Given the description of an element on the screen output the (x, y) to click on. 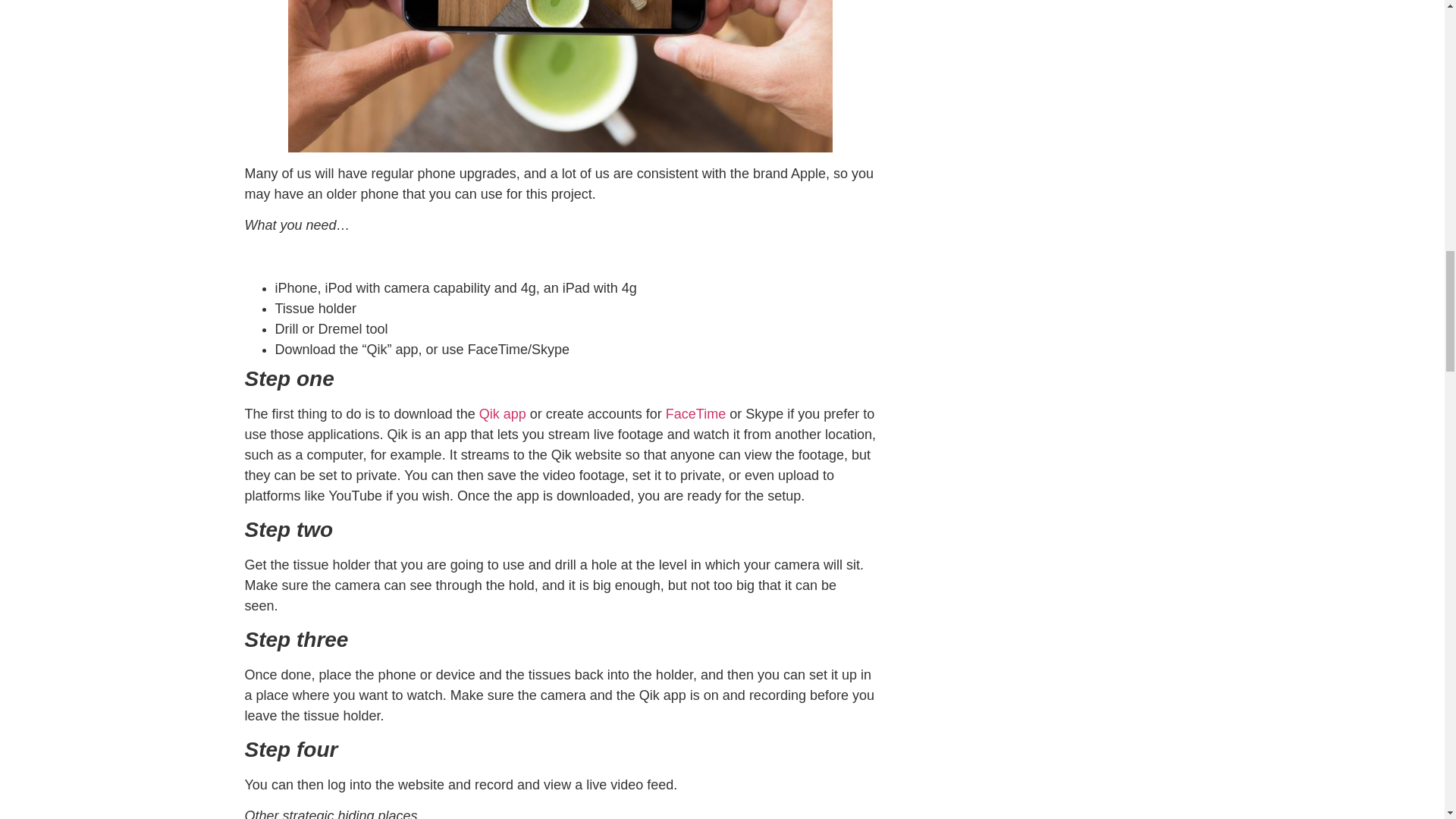
FaceTime (695, 413)
Qik app (502, 413)
Closeup hand holding phone shooting drink photogeaph (560, 76)
